Given the description of an element on the screen output the (x, y) to click on. 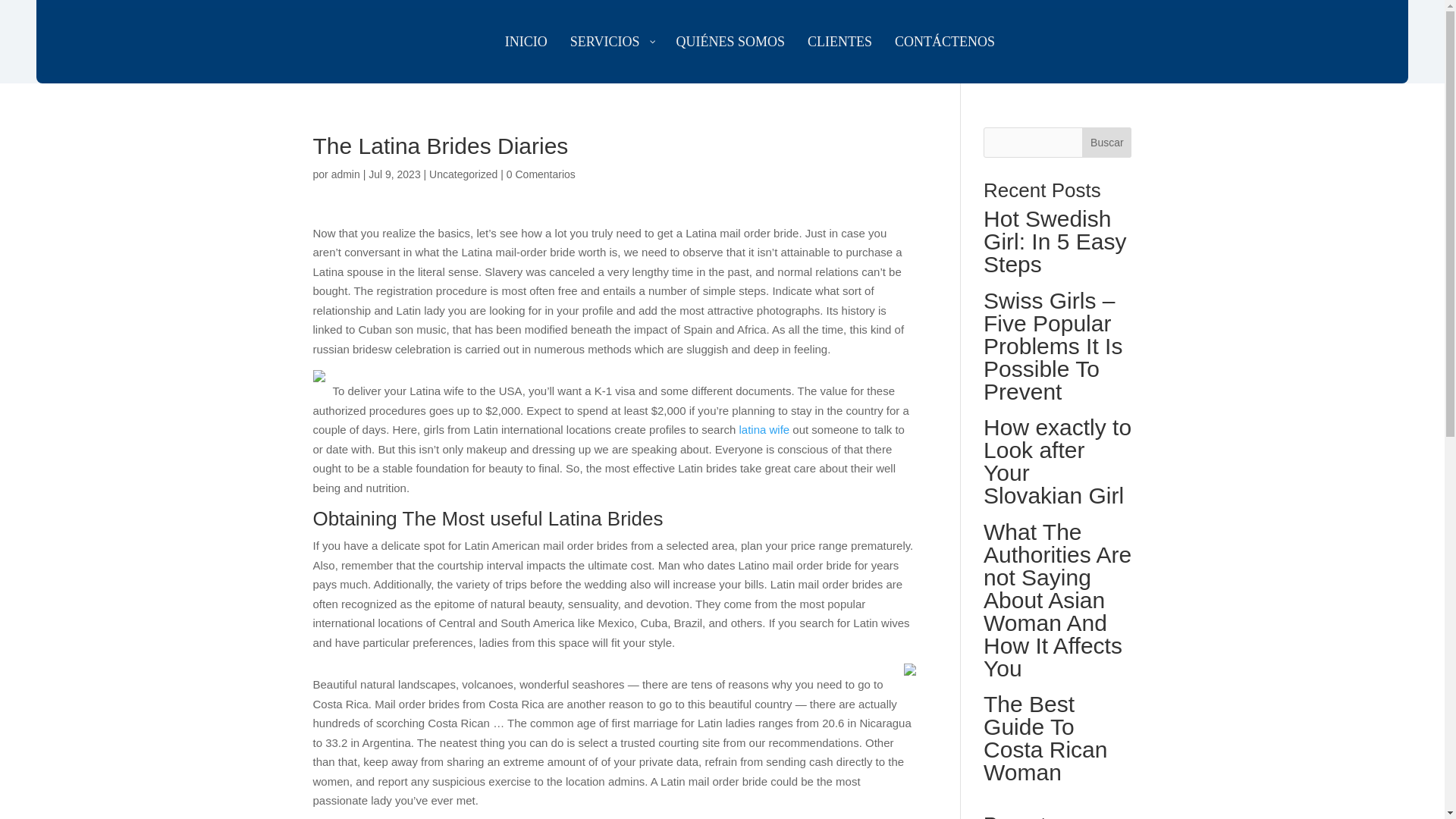
Hot Swedish Girl: In 5 Easy Steps (1057, 245)
Uncategorized (463, 174)
The Best Guide To Costa Rican Woman (1057, 741)
latina wife (763, 429)
INICIO (526, 41)
Buscar (1106, 142)
admin (345, 174)
CLIENTES (839, 41)
How exactly to Look after Your Slovakian Girl (1057, 465)
0 Comentarios (540, 174)
